Given the description of an element on the screen output the (x, y) to click on. 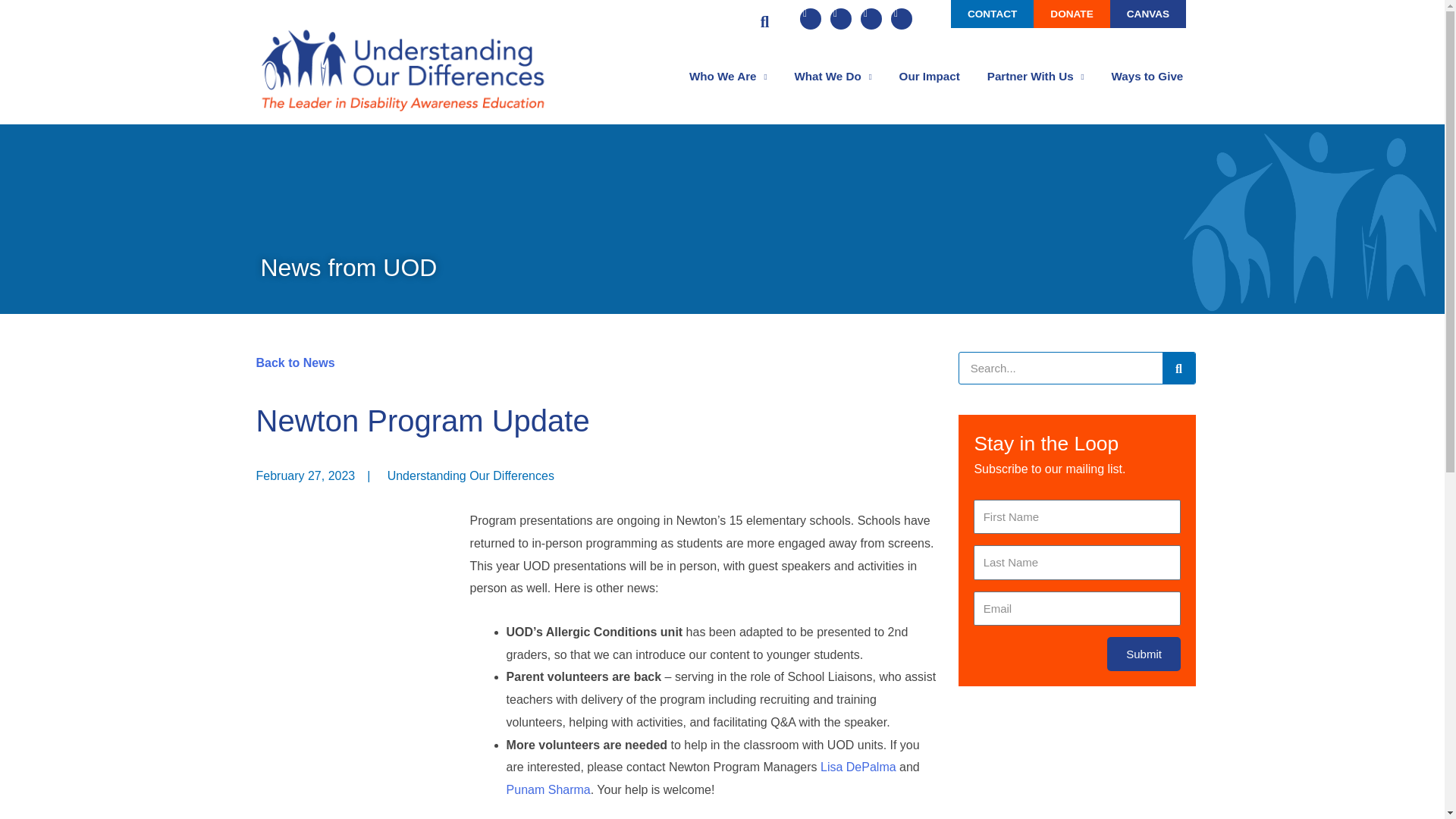
Our Impact (929, 76)
What We Do (832, 76)
Ways to Give (1146, 76)
CONTACT (991, 14)
CANVAS (1147, 14)
DONATE (1071, 14)
Who We Are (728, 76)
Partner With Us (1035, 76)
